Given the description of an element on the screen output the (x, y) to click on. 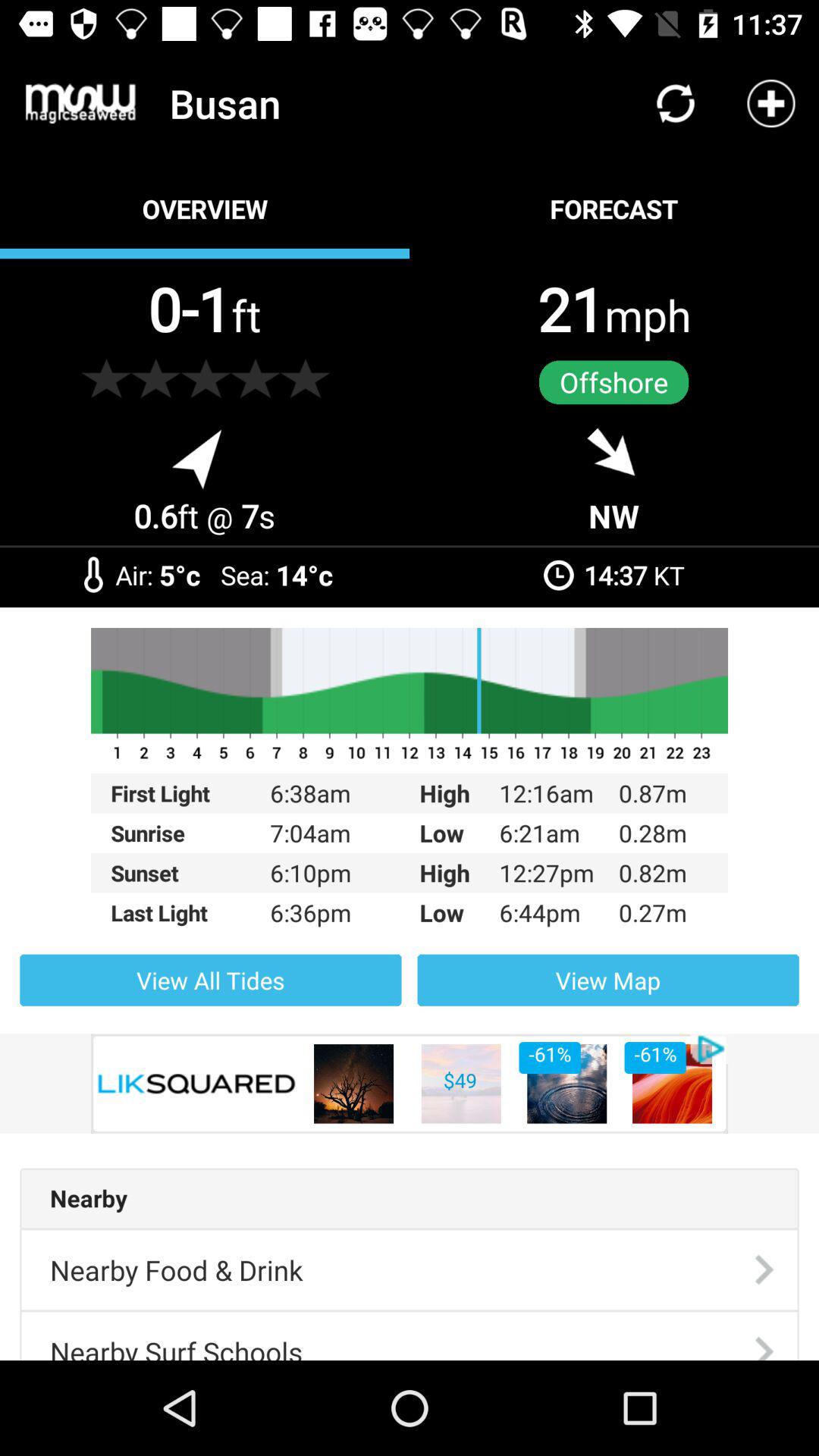
turn on the icon above nearby surf schools item (176, 1269)
